Given the description of an element on the screen output the (x, y) to click on. 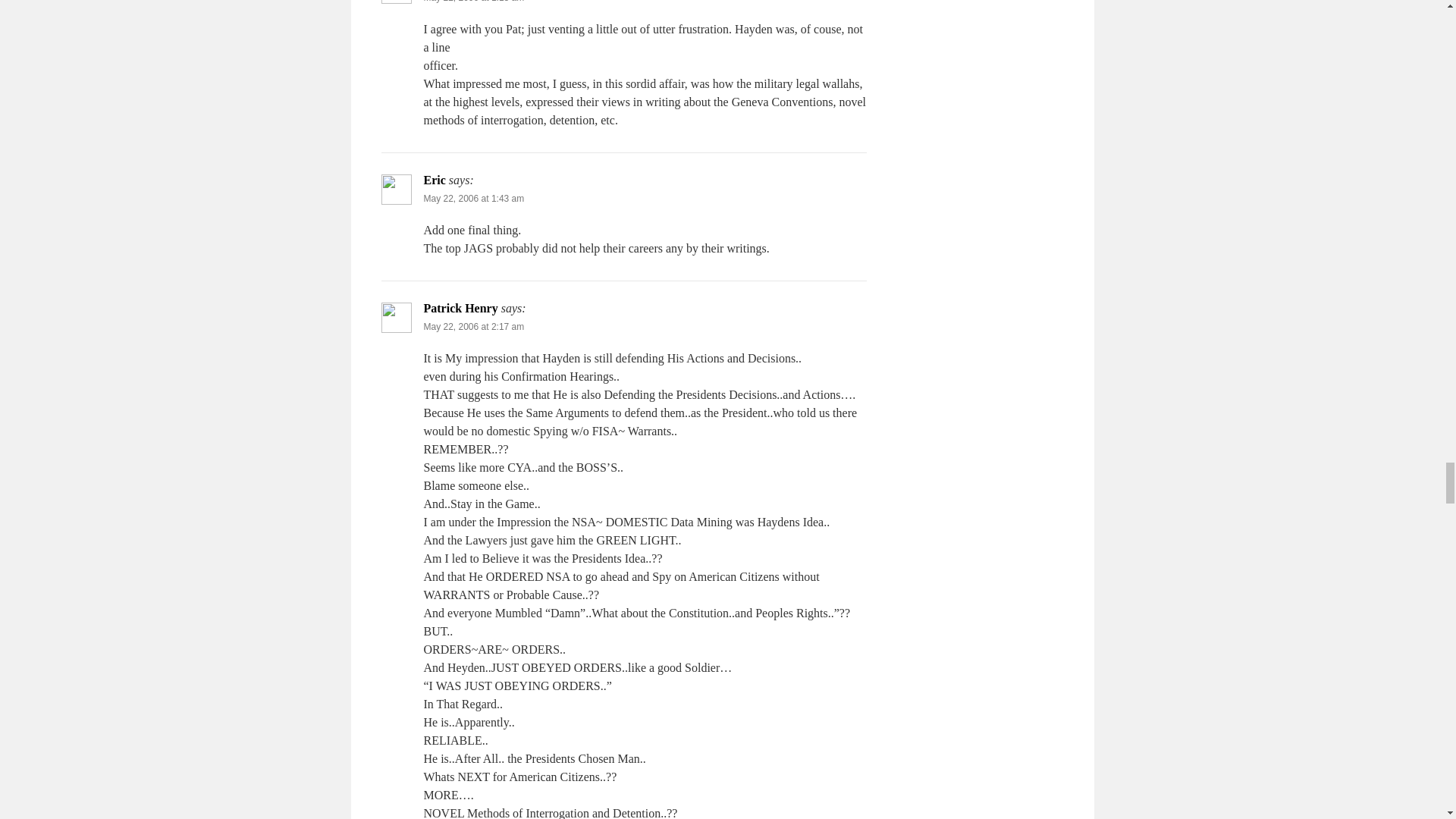
May 22, 2006 at 2:17 am (473, 326)
May 22, 2006 at 1:13 am (473, 1)
May 22, 2006 at 1:43 am (473, 198)
